Given the description of an element on the screen output the (x, y) to click on. 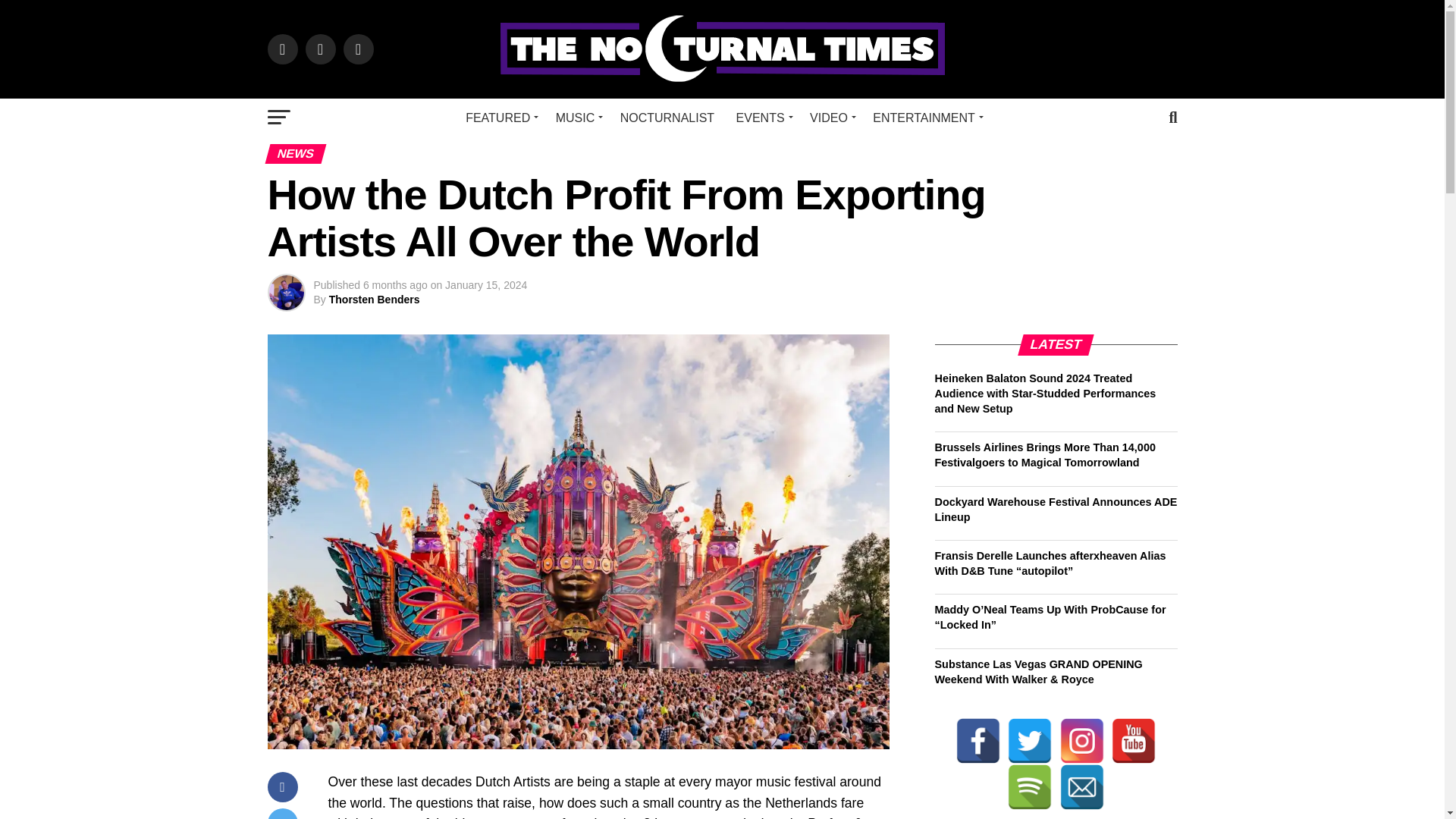
Facebook (978, 740)
Posts by Thorsten Benders (374, 299)
